Given the description of an element on the screen output the (x, y) to click on. 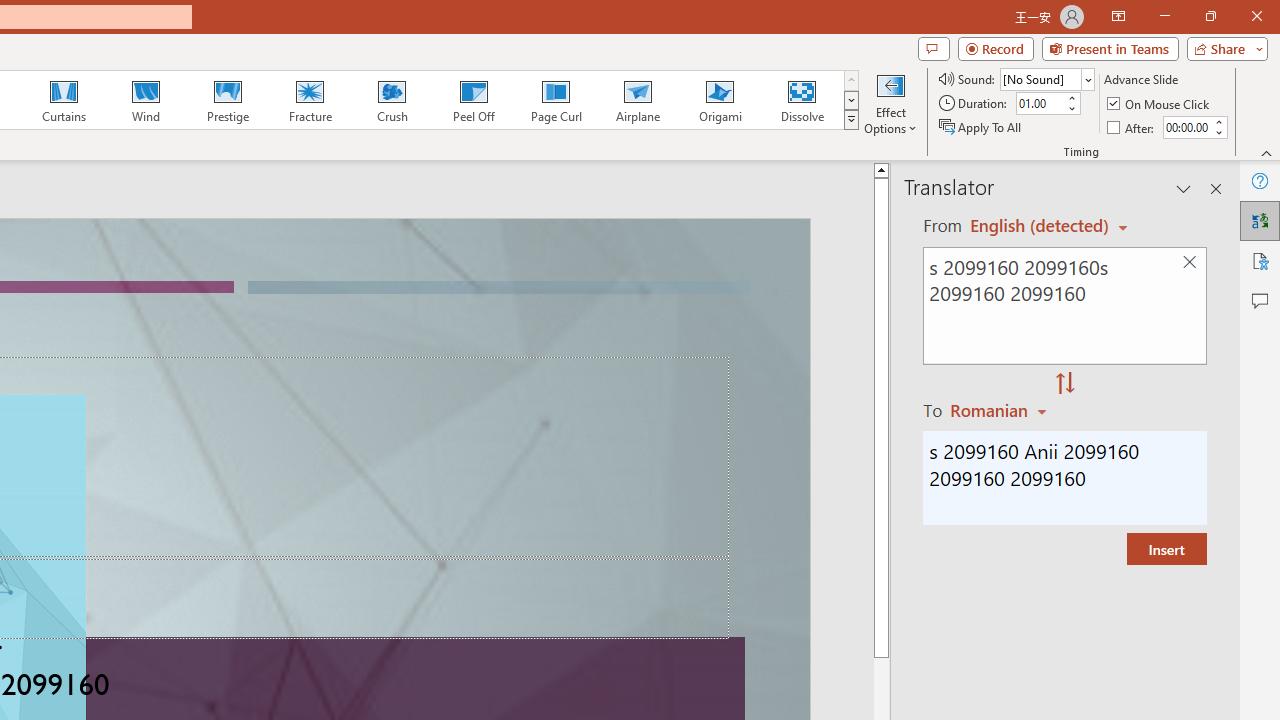
Origami (719, 100)
On Mouse Click (1159, 103)
Romanian (1001, 409)
Transition Effects (850, 120)
Apply To All (981, 126)
Sound (1046, 78)
